Given the description of an element on the screen output the (x, y) to click on. 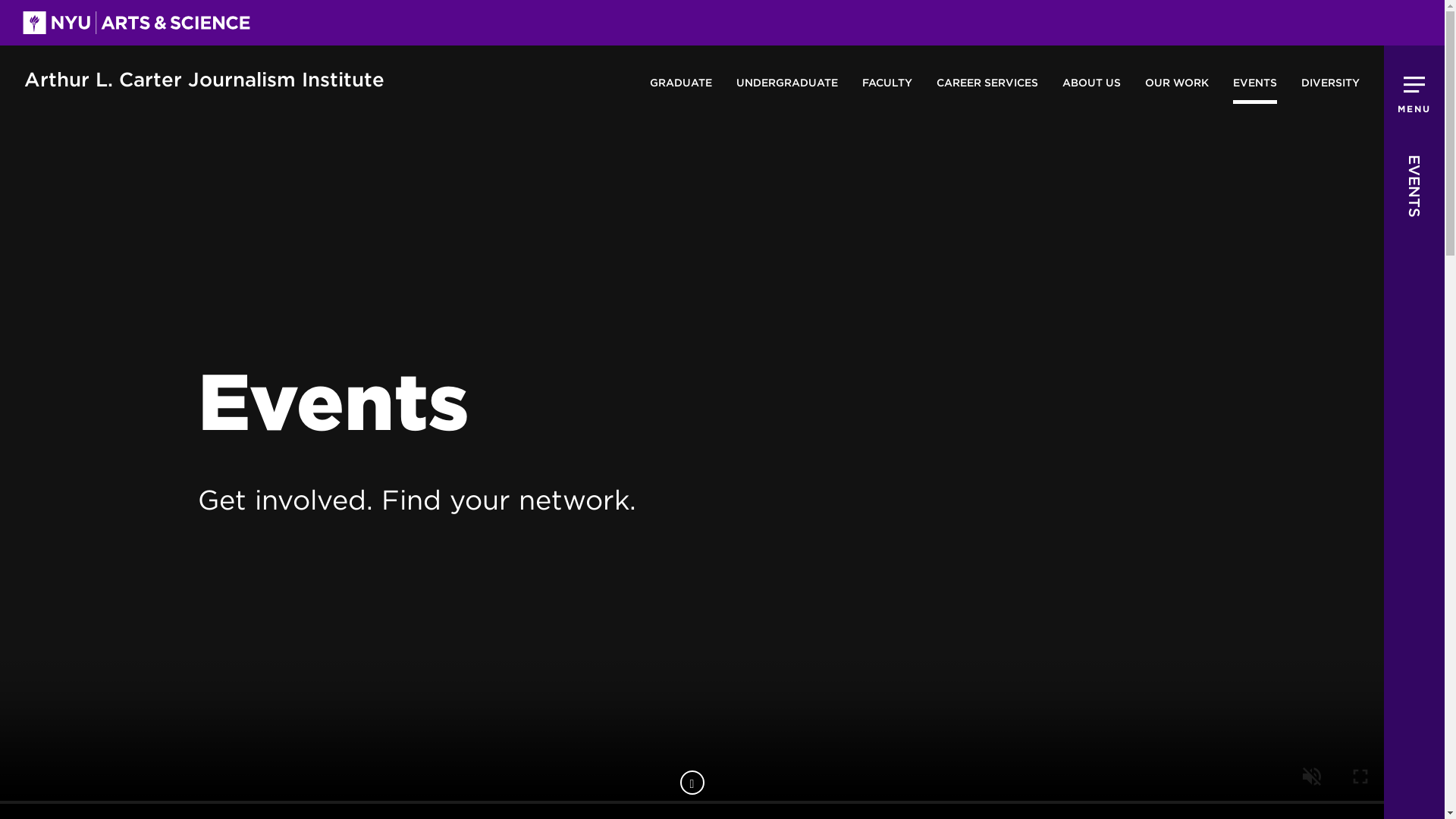
GRADUATE (680, 81)
UNDERGRADUATE (787, 81)
Scroll Down (691, 782)
Arthur L. Carter Journalism Institute (204, 81)
